Given the description of an element on the screen output the (x, y) to click on. 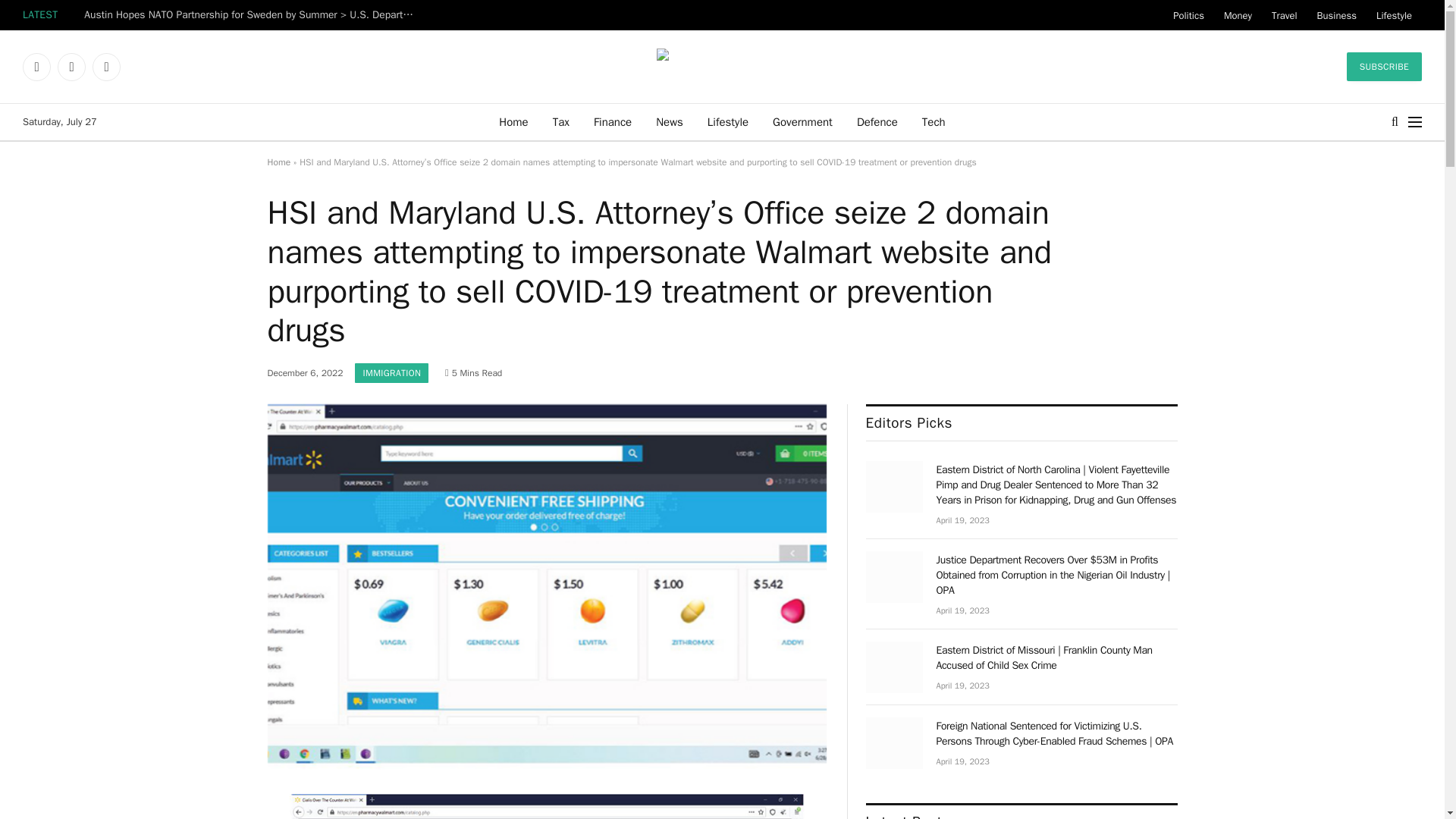
Money (1238, 15)
Tax (560, 122)
Search (1394, 121)
Politics (1188, 15)
Lifestyle (1394, 15)
Twitter (71, 67)
SUBSCRIBE (1384, 66)
Instagram (106, 67)
News (669, 122)
Lifestyle (727, 122)
Travel (1284, 15)
Defence (877, 122)
Business (1337, 15)
Home (513, 122)
Government (802, 122)
